Given the description of an element on the screen output the (x, y) to click on. 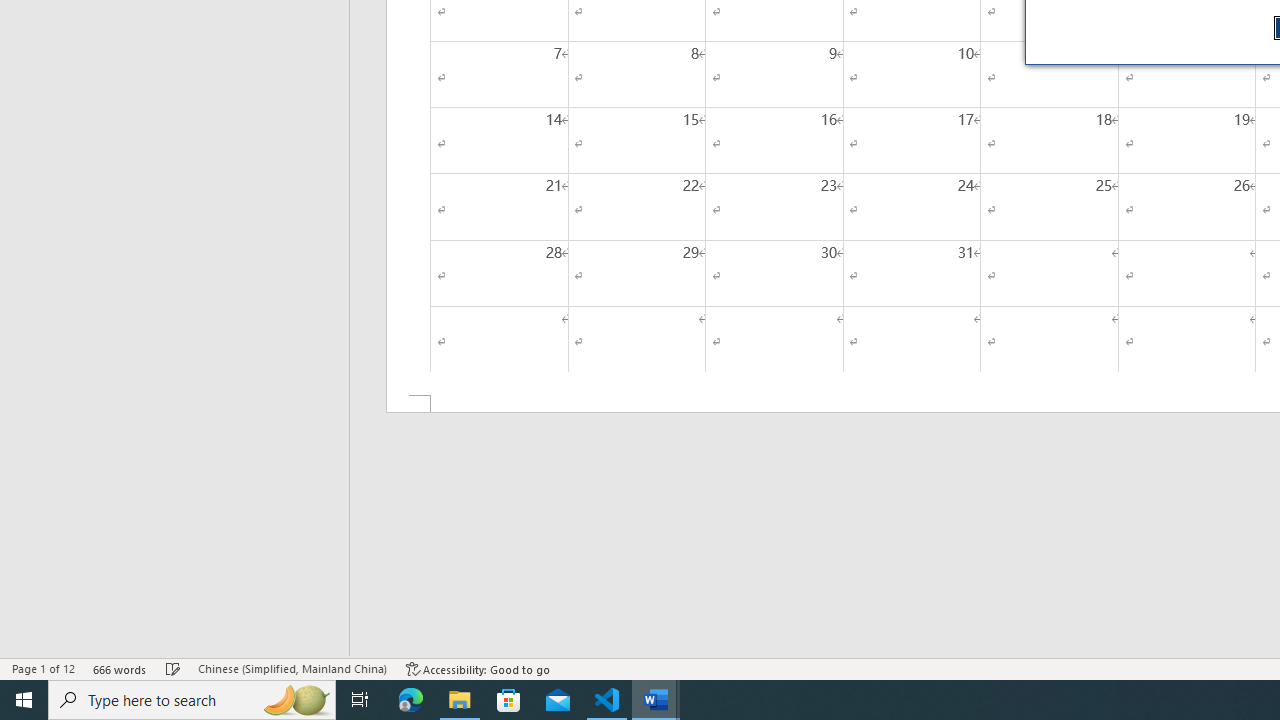
Page Number Page 1 of 12 (43, 668)
Microsoft Edge (411, 699)
Word - 2 running windows (656, 699)
